Given the description of an element on the screen output the (x, y) to click on. 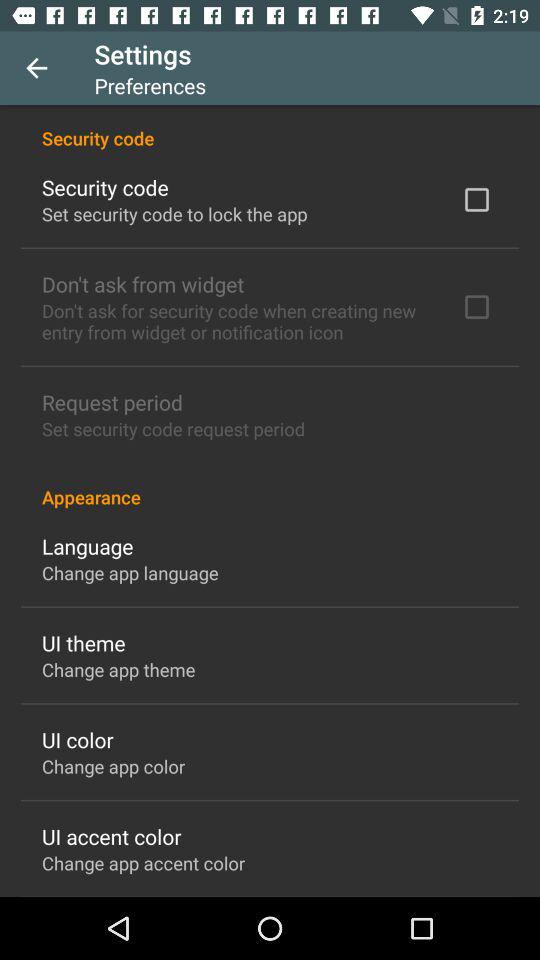
open icon below change app language icon (83, 642)
